Given the description of an element on the screen output the (x, y) to click on. 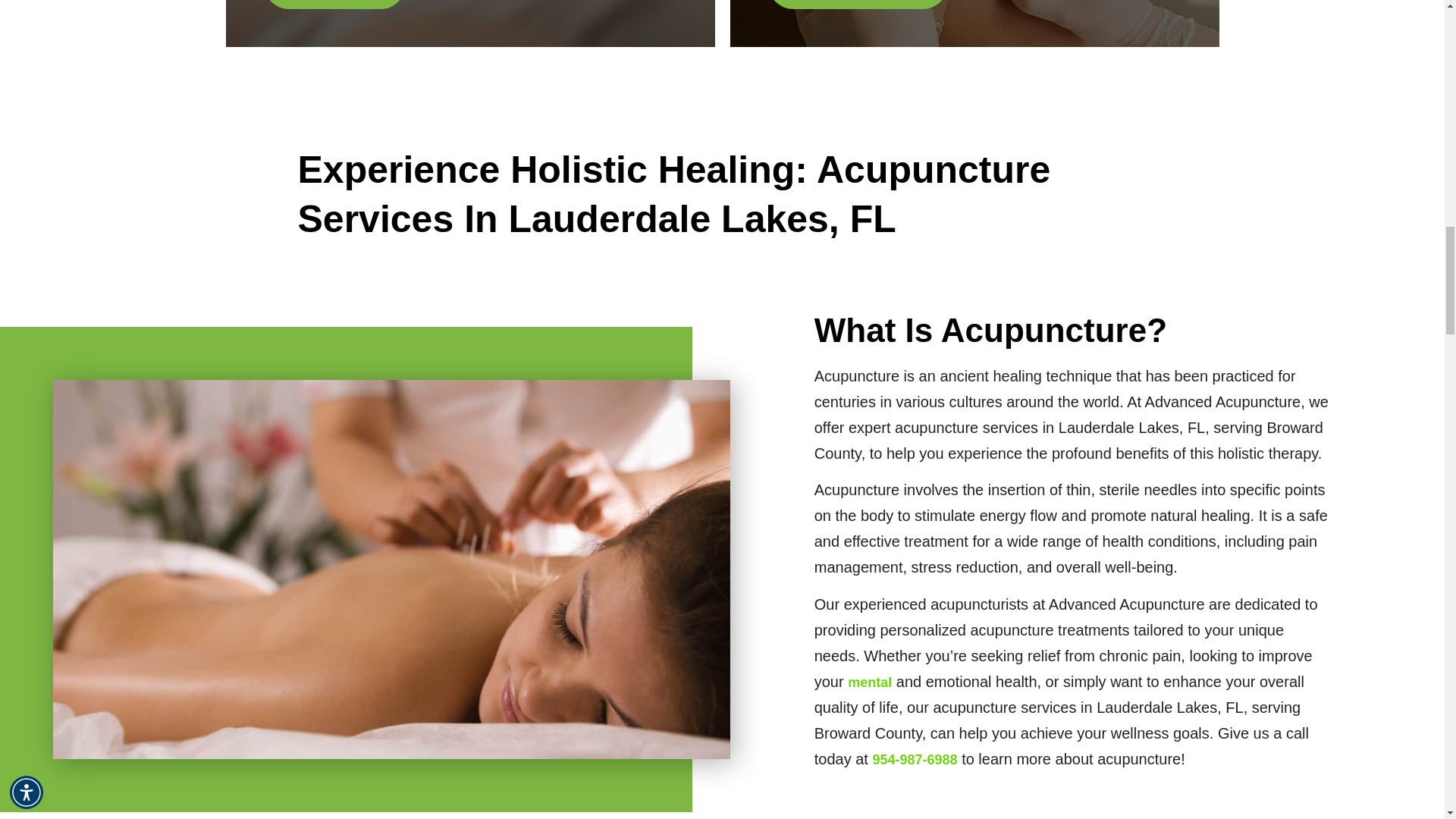
Mental Treatment (869, 682)
